Given the description of an element on the screen output the (x, y) to click on. 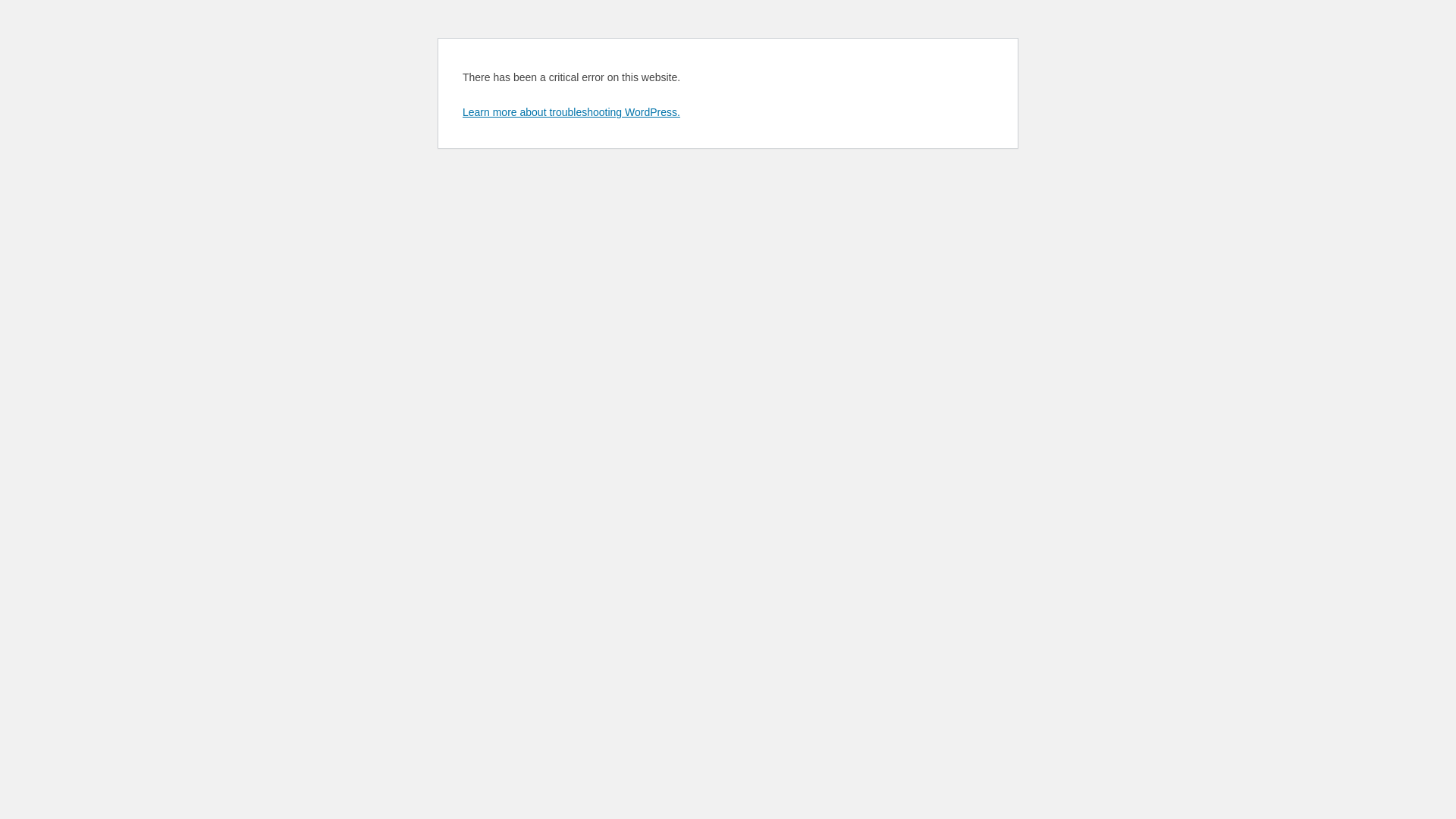
Learn more about troubleshooting WordPress. Element type: text (571, 112)
